Given the description of an element on the screen output the (x, y) to click on. 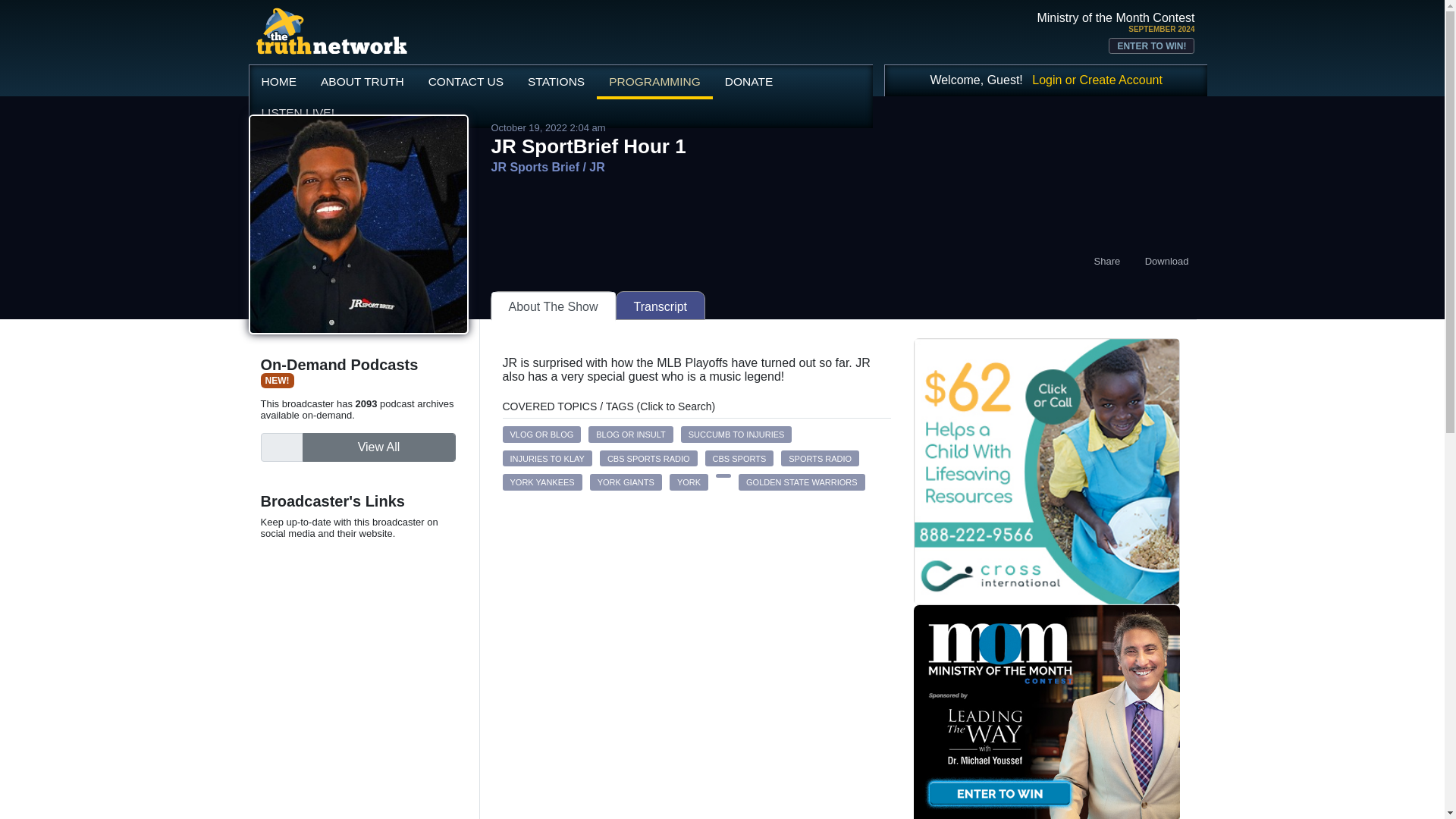
STATIONS (555, 81)
HOME (278, 81)
ABOUT TRUTH (362, 81)
Go to Show Details (535, 166)
PROGRAMMING (654, 82)
CONTACT US (465, 81)
